Given the description of an element on the screen output the (x, y) to click on. 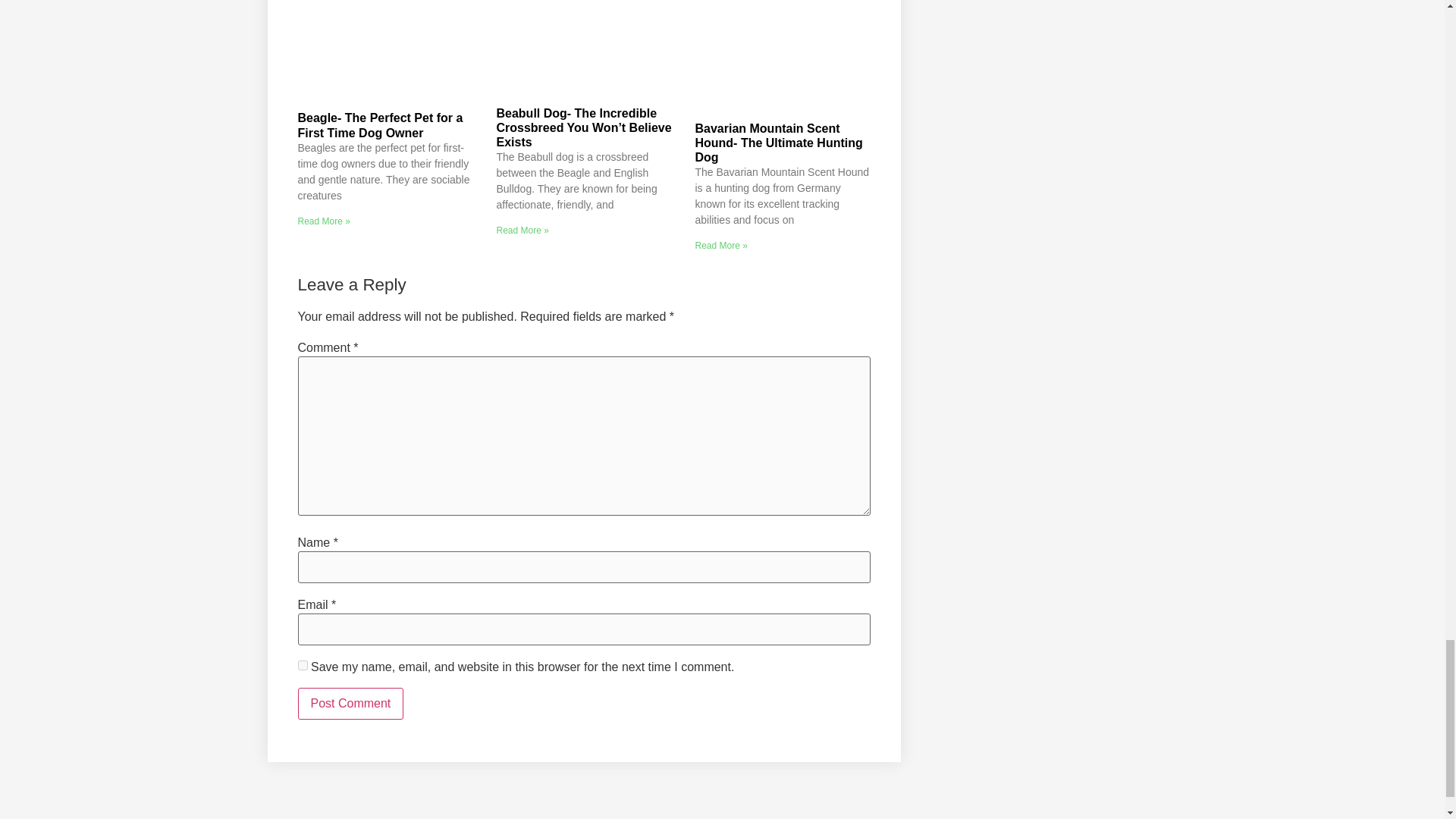
Beagle- The Perfect Pet for a First Time Dog Owner (380, 124)
Post Comment (350, 703)
yes (302, 665)
